Given the description of an element on the screen output the (x, y) to click on. 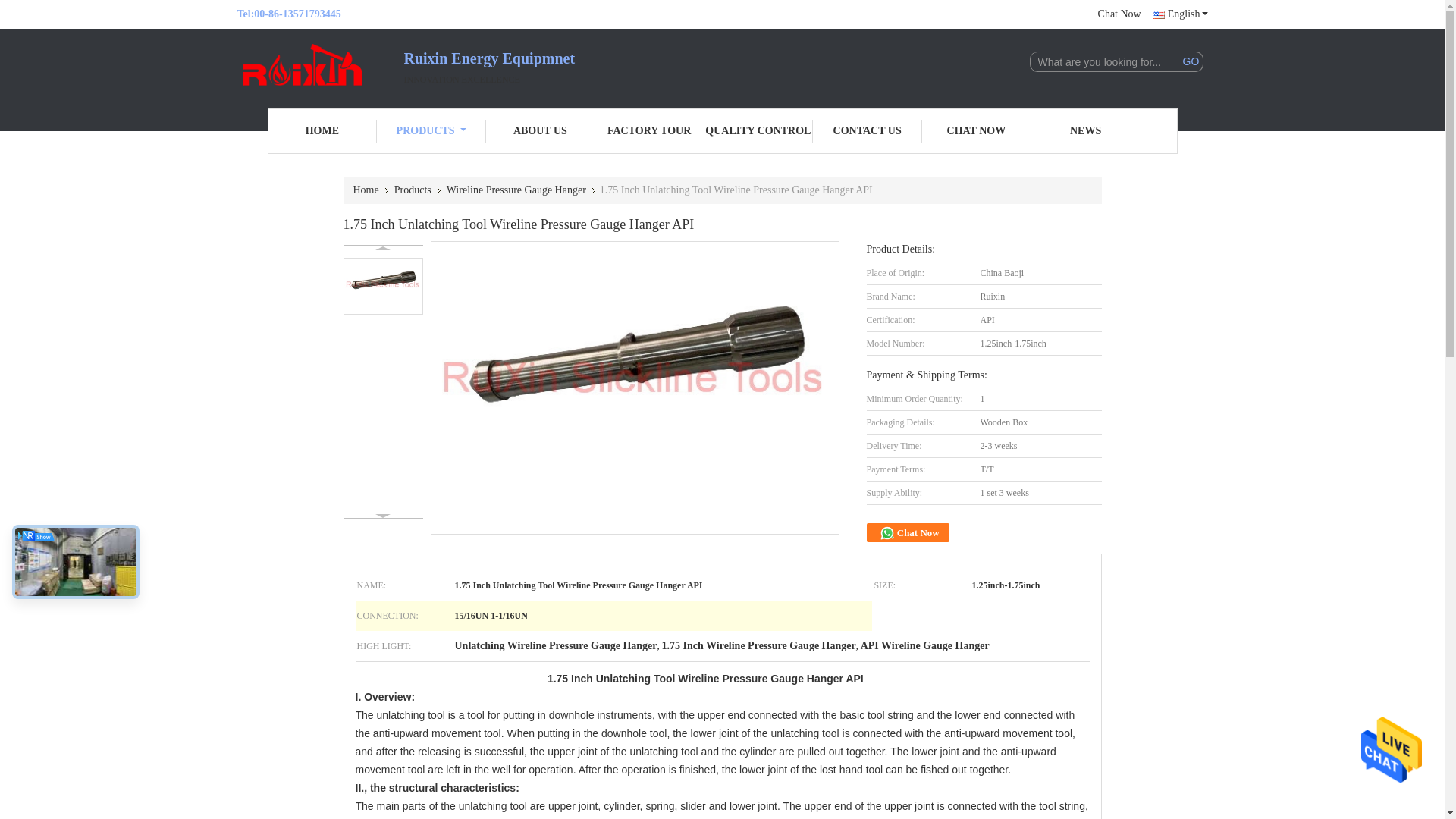
HOME (322, 130)
Chat Now (1119, 14)
GO (1190, 61)
PRODUCTS (431, 130)
GO (1190, 61)
English (1180, 14)
